Given the description of an element on the screen output the (x, y) to click on. 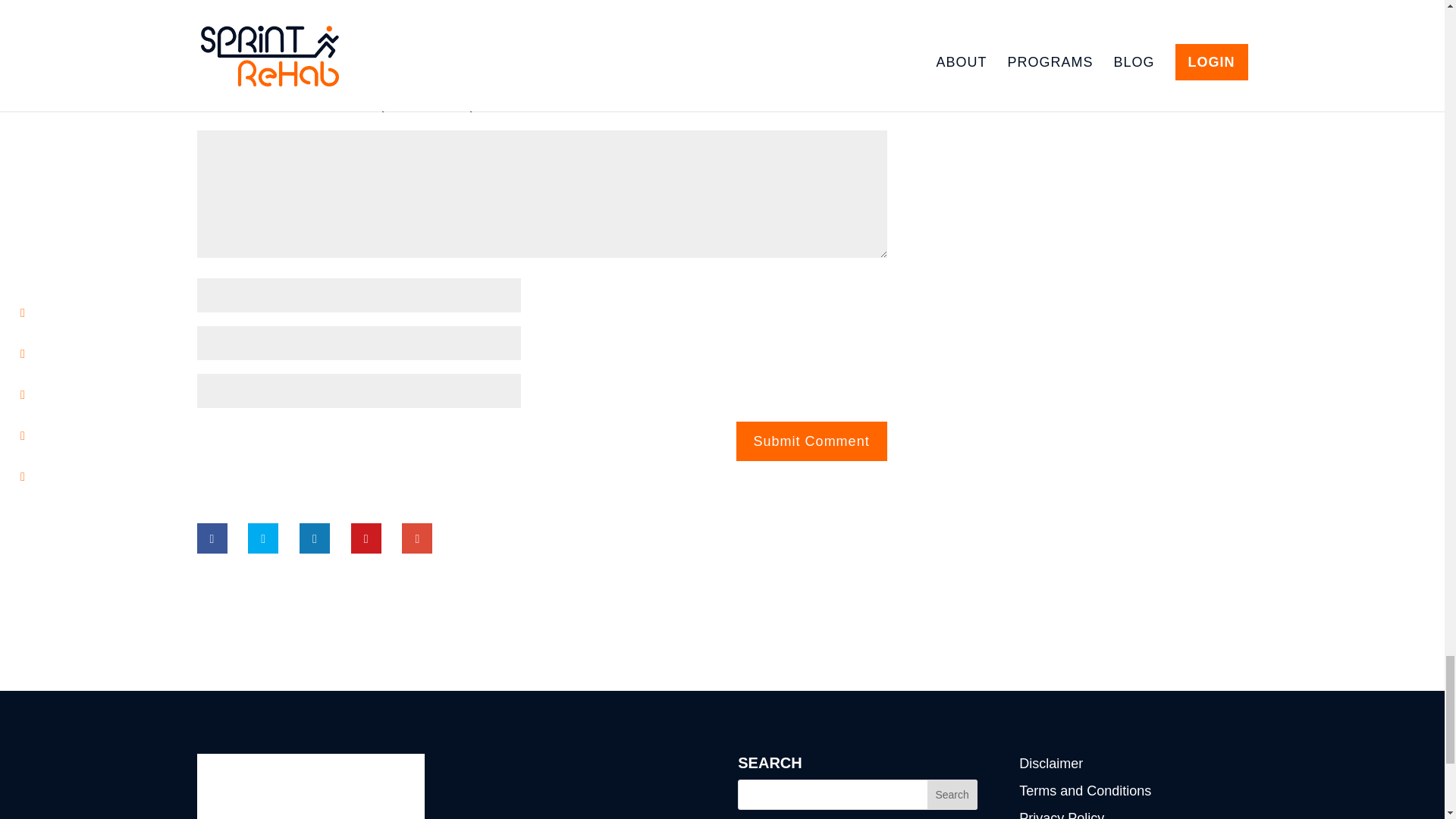
Facebook (287, 9)
Disclaimer (1051, 763)
Email (214, 9)
Search (951, 794)
Gmail (250, 9)
Twitter (360, 9)
Twitter (360, 9)
LinkedIn (396, 9)
Messenger (323, 9)
Messenger (323, 9)
Search (951, 794)
Submit Comment (811, 440)
Email (214, 9)
Gmail (250, 9)
Facebook (287, 9)
